Given the description of an element on the screen output the (x, y) to click on. 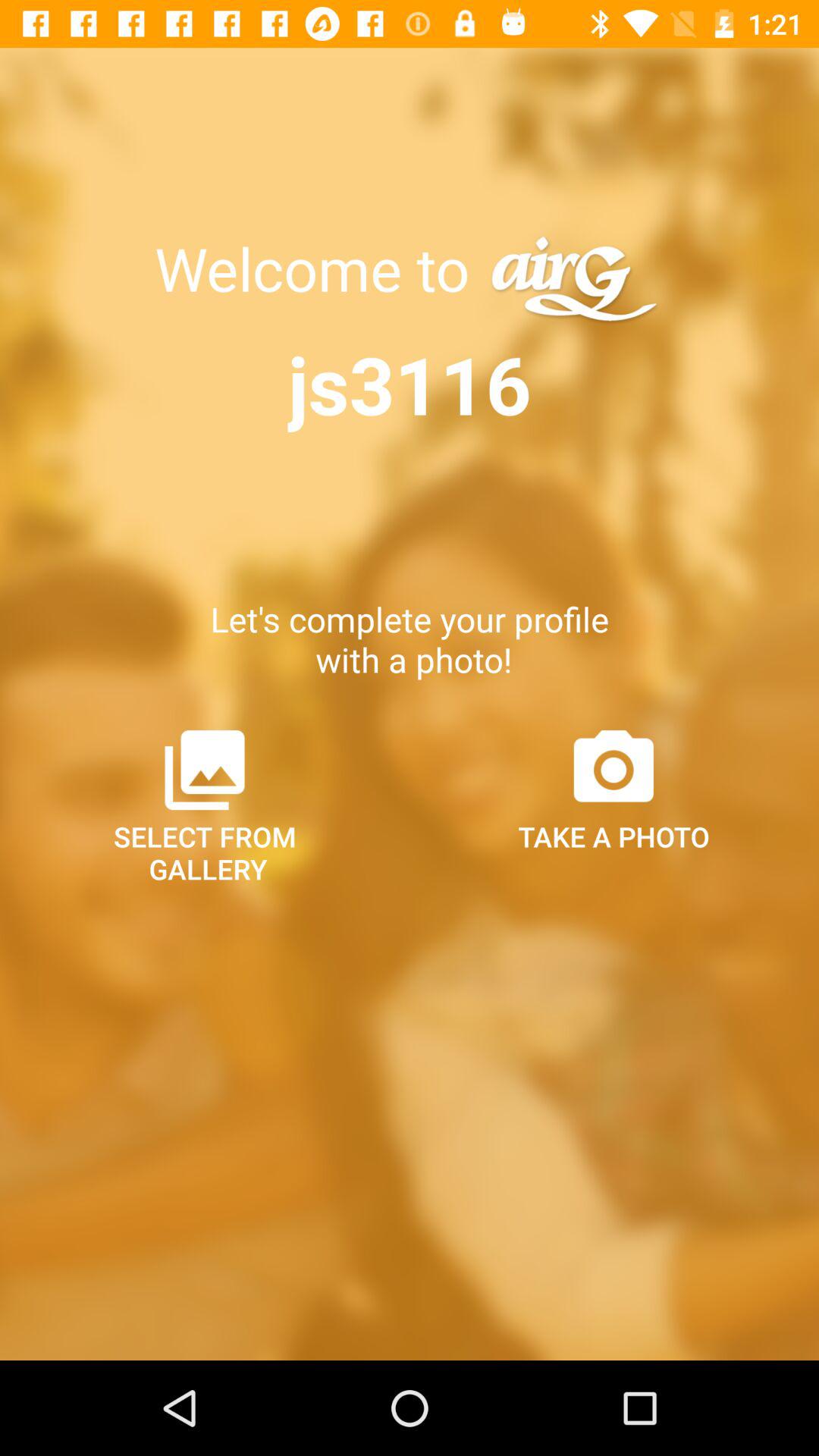
select the select from
 gallery on the left (204, 804)
